Given the description of an element on the screen output the (x, y) to click on. 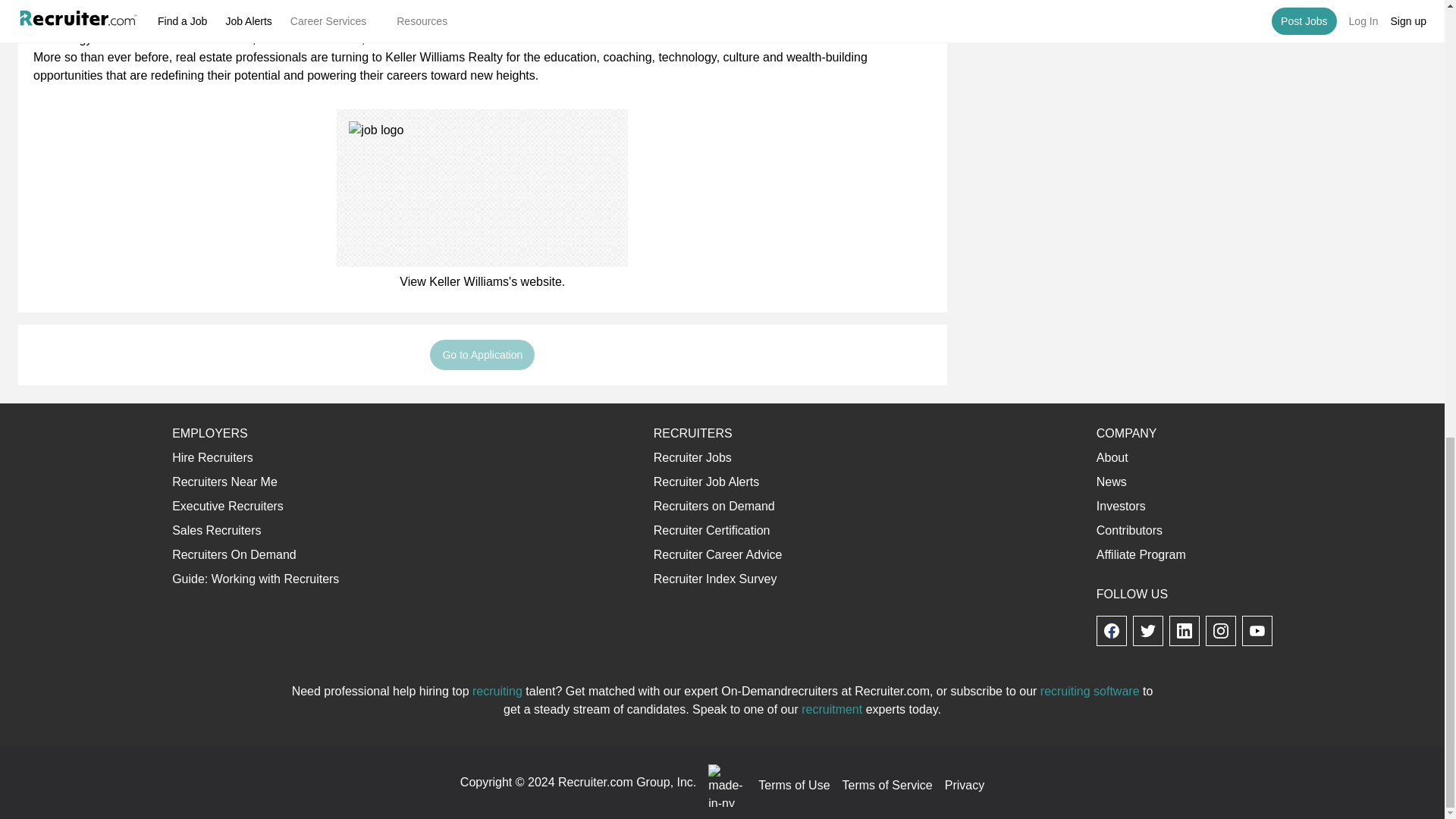
Recruiters On Demand (234, 554)
News (1111, 481)
Recruiters on Demand (713, 505)
Executive Recruiters (227, 505)
Recruiter Certification (711, 530)
Sales Recruiters (215, 530)
Recruiter Jobs (692, 457)
Recruiter Career Advice (718, 554)
Guide: Working with Recruiters (255, 578)
Recruiter Job Alerts (706, 481)
Contributors (1128, 530)
Recruiters Near Me (224, 481)
Affiliate Program (1141, 554)
View Keller Williams's website. (481, 281)
About (1112, 457)
